Given the description of an element on the screen output the (x, y) to click on. 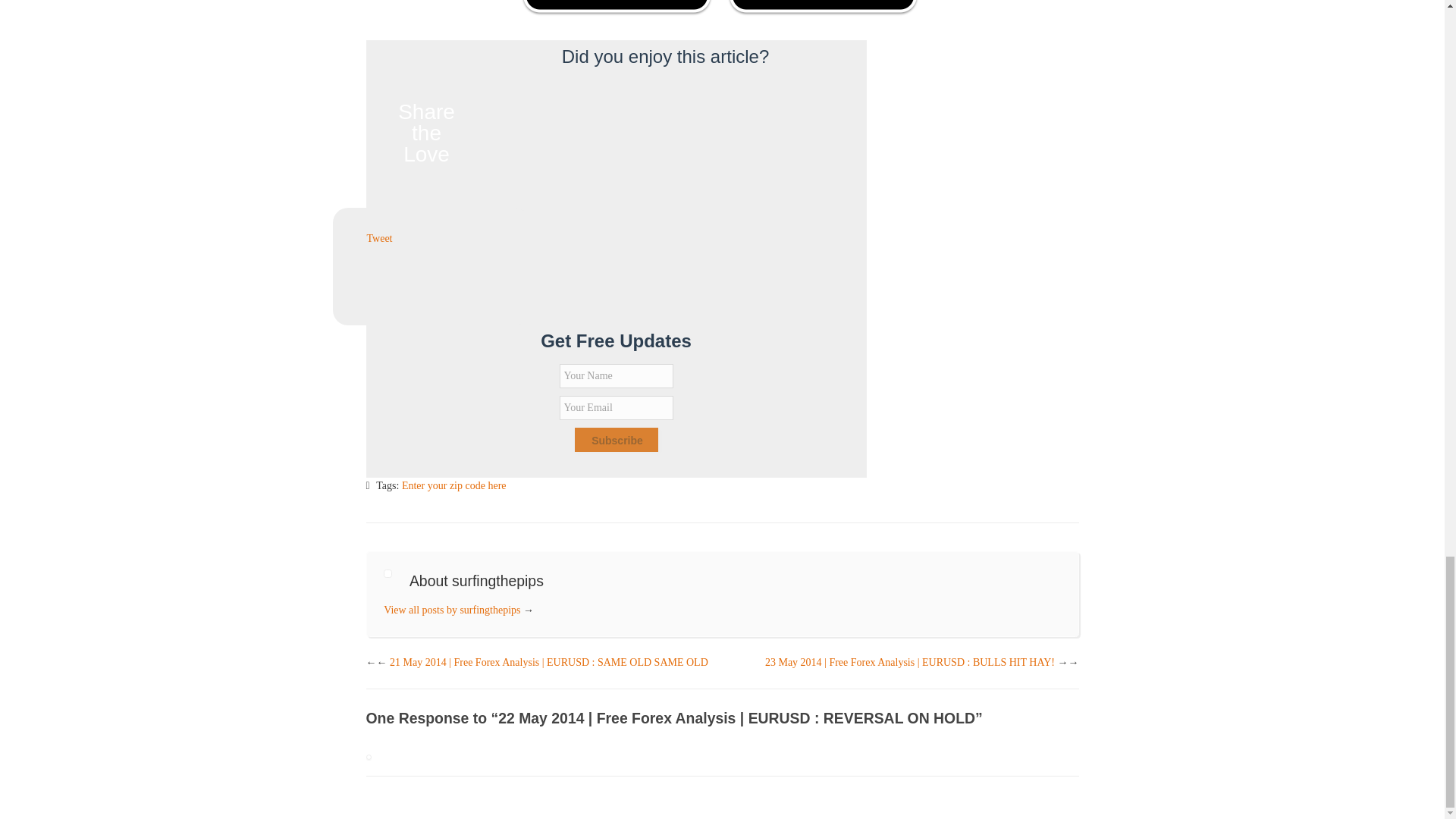
Enter your zip code here (453, 485)
Subscribe (616, 439)
Subscribe (616, 439)
go pro surfingthepips (722, 11)
Tweet (379, 238)
